Given the description of an element on the screen output the (x, y) to click on. 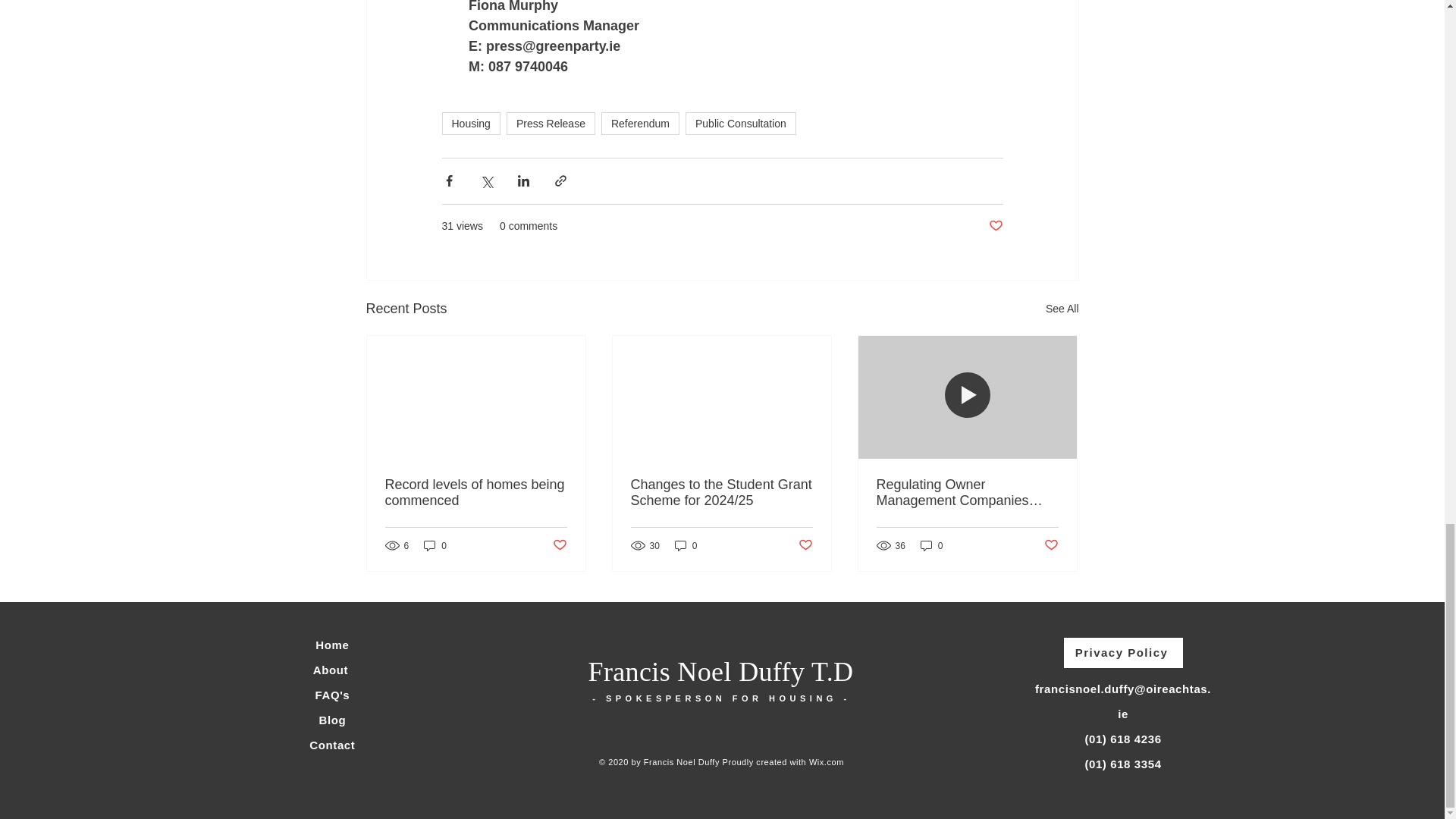
0 (435, 545)
Press Release (550, 123)
Post not marked as liked (995, 226)
0 (931, 545)
Housing (470, 123)
Home (332, 644)
Post not marked as liked (804, 545)
About  (332, 669)
See All (1061, 309)
0 (685, 545)
Post not marked as liked (1050, 545)
Record levels of homes being commenced (476, 492)
Referendum (640, 123)
Post not marked as liked (558, 545)
FAQ's (332, 694)
